Given the description of an element on the screen output the (x, y) to click on. 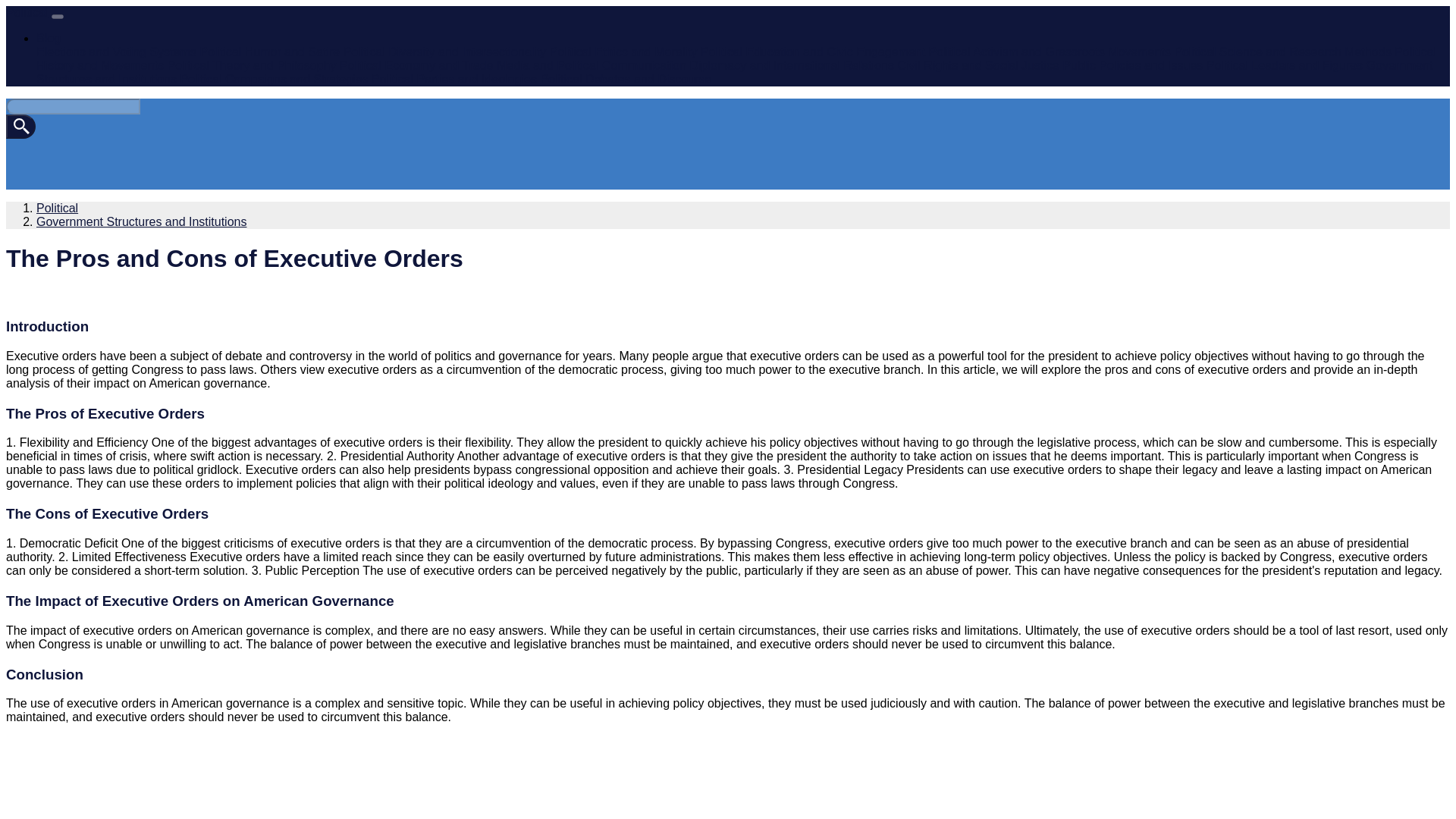
Political Leaders and Figures (1284, 65)
Political Campaigns and Strategies (273, 78)
Political Activism and Grassroots Movements (1049, 51)
Political Parties and Ideologies (454, 78)
Government Structures and Institutions (734, 71)
Political Humor and Satire (269, 51)
Political Economy and Trade (416, 65)
Political Ethics and Morality (623, 51)
Political Science and Research Methods (1281, 51)
Political History and Movements (735, 58)
